Given the description of an element on the screen output the (x, y) to click on. 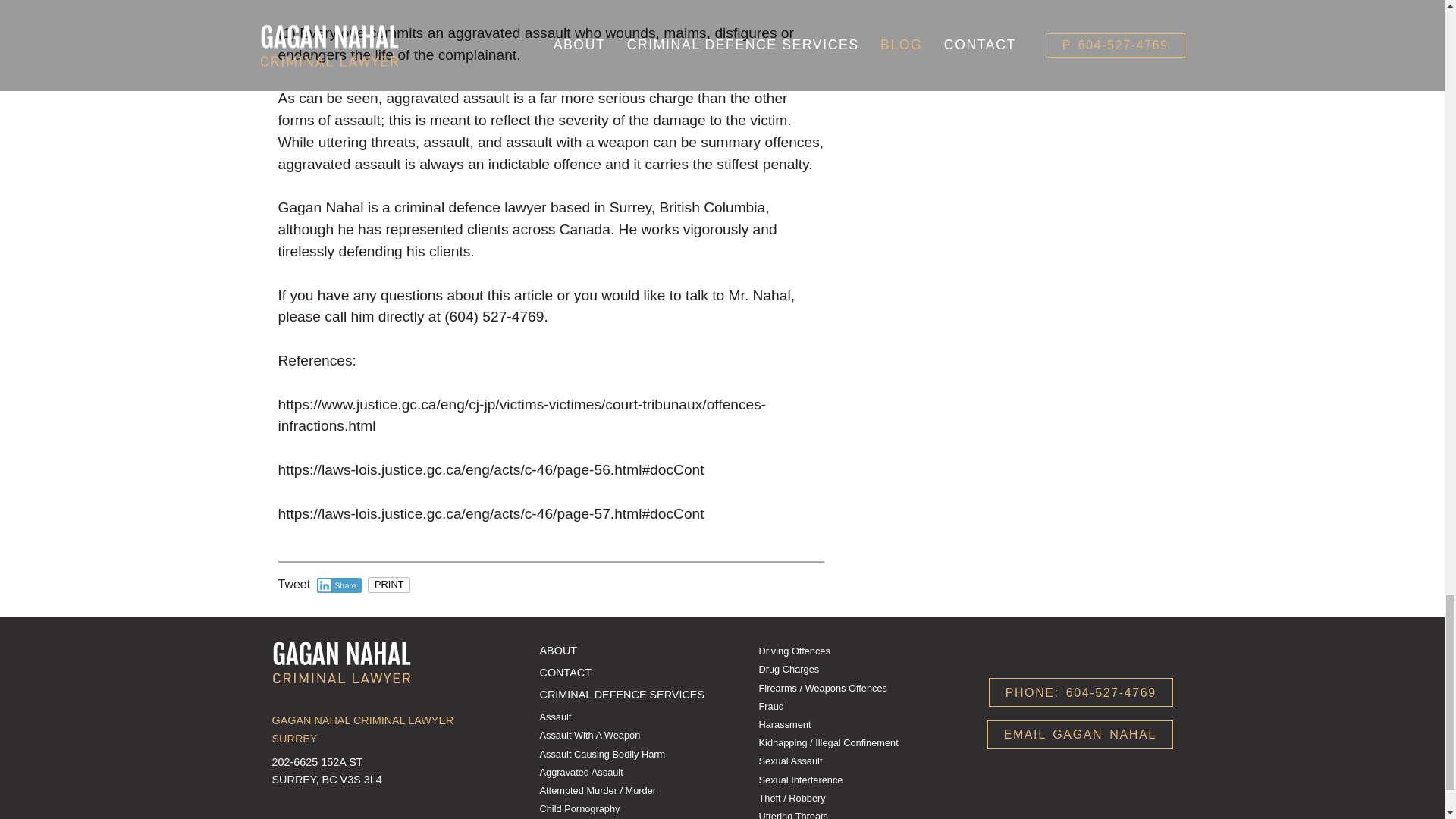
Aggravated Assault (581, 772)
Harassment (784, 724)
Sexual Assault (790, 760)
Drug Charges (788, 668)
Tweet (294, 584)
Child Pornography (580, 808)
Sexual Interference (800, 779)
Share (339, 585)
Fraud (770, 706)
CONTACT (565, 672)
Assault (556, 716)
Assault Causing Bodily Harm (602, 754)
PRINT (389, 584)
ABOUT (559, 650)
CRIMINAL DEFENCE SERVICES (622, 694)
